Given the description of an element on the screen output the (x, y) to click on. 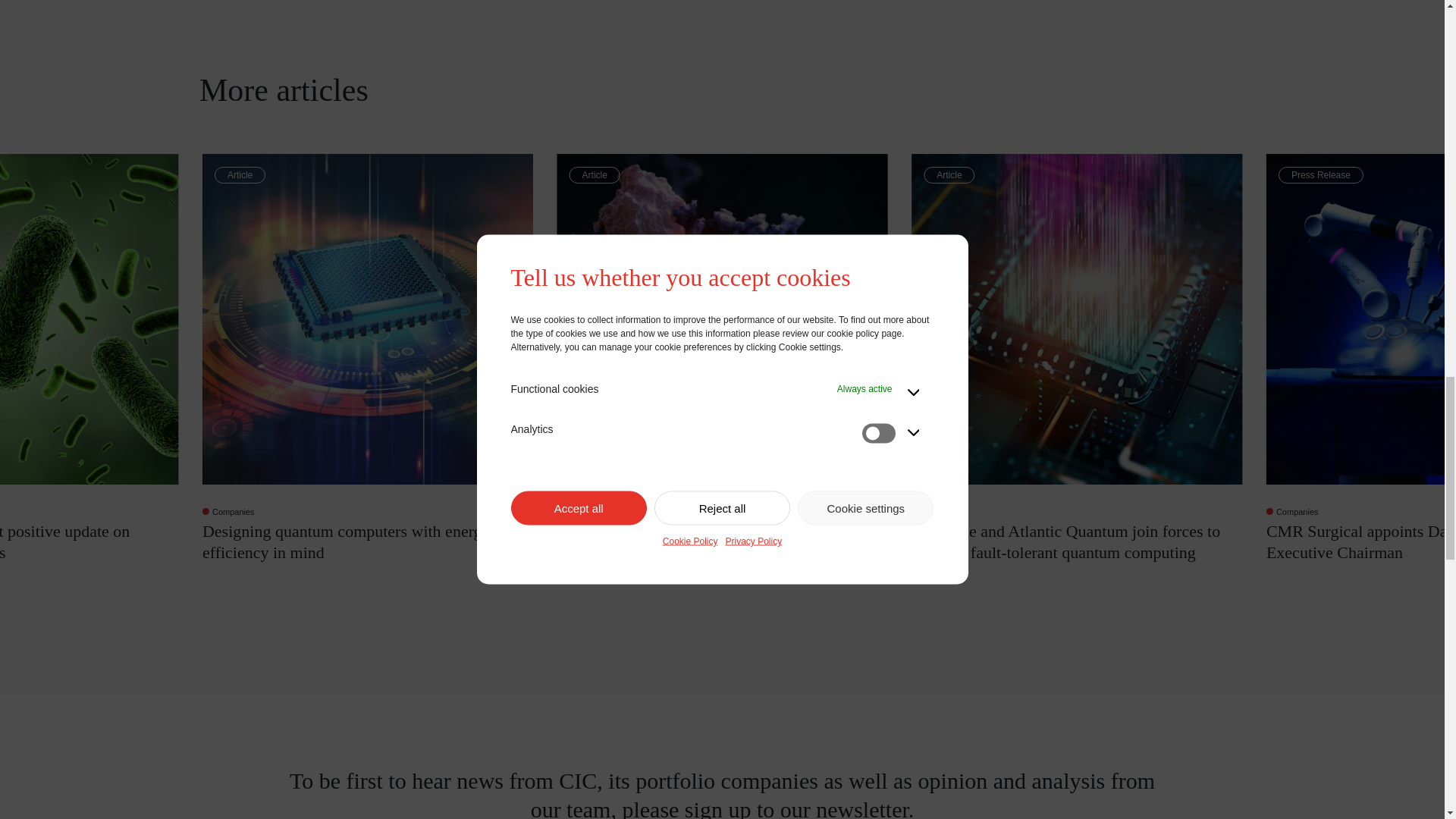
Article (722, 318)
Article (1076, 318)
Designing quantum computers with energy-efficiency in mind (367, 541)
Article (367, 318)
